Given the description of an element on the screen output the (x, y) to click on. 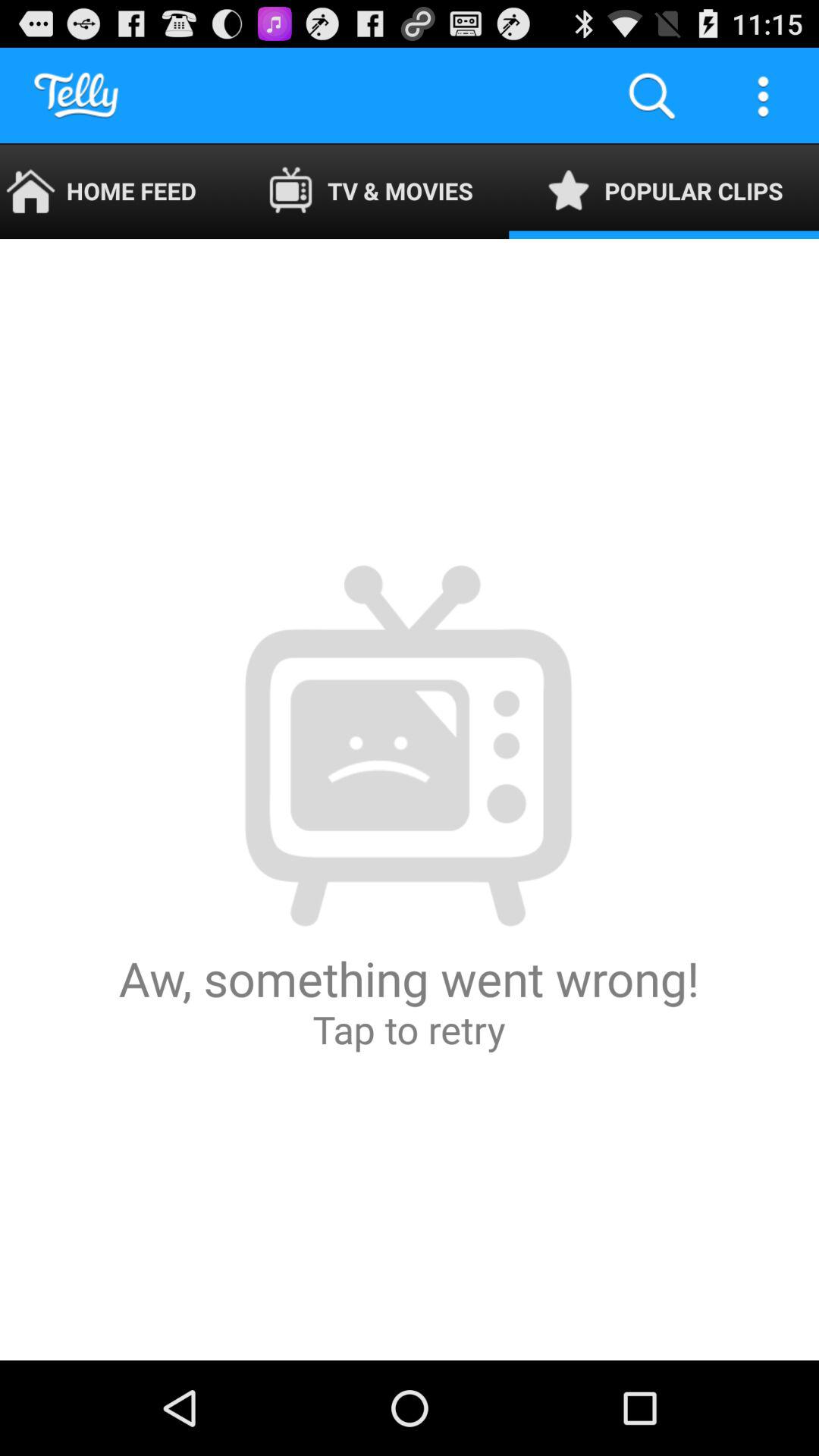
flip until tv & movies icon (370, 190)
